Given the description of an element on the screen output the (x, y) to click on. 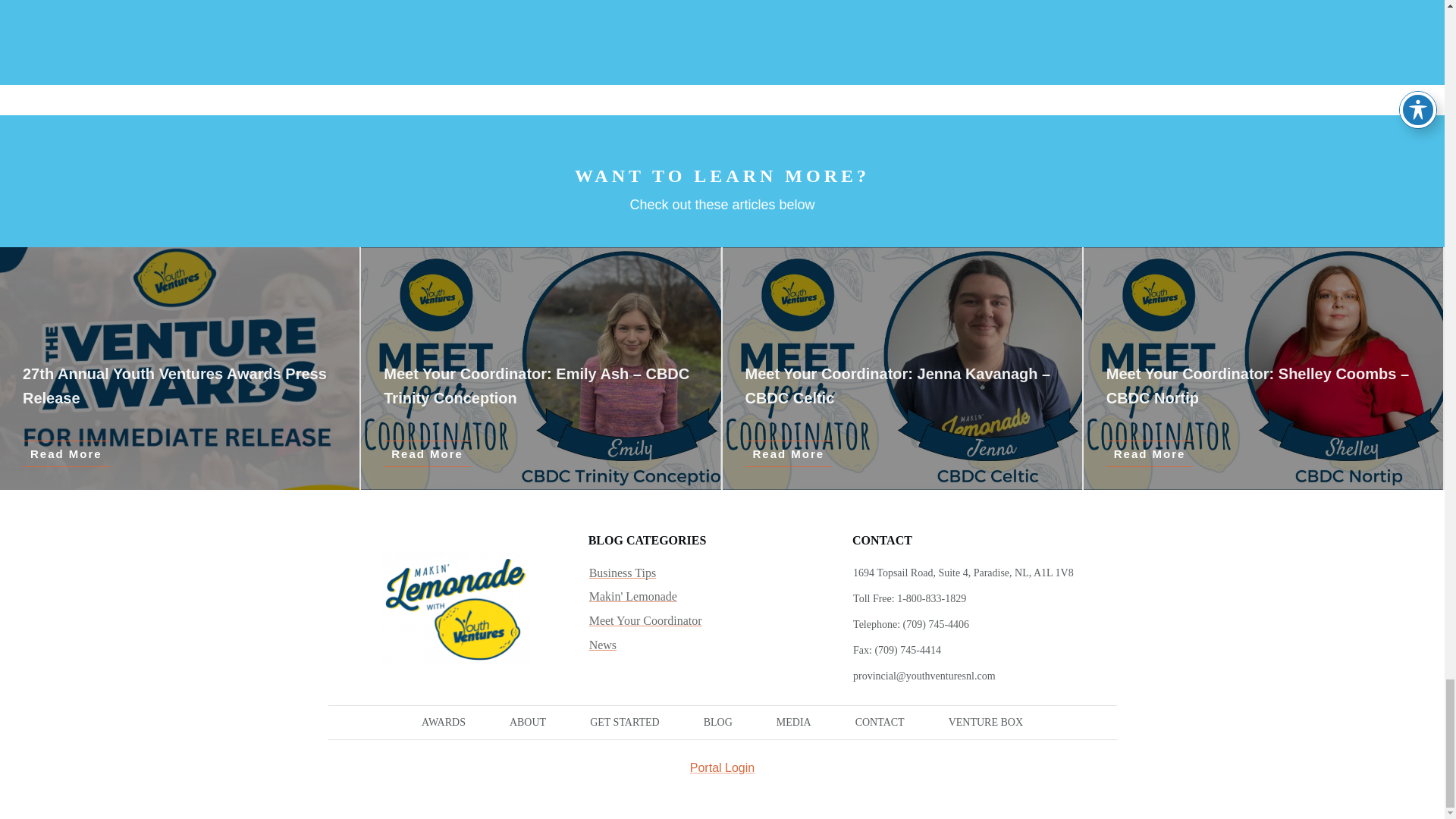
27th Annual Youth Ventures Awards Press Release (174, 385)
Meet Your Coordinator (645, 620)
Business Tips (622, 573)
Read More (66, 453)
News (602, 645)
Read More (427, 453)
Read More (1149, 453)
Makin' Lemonade (633, 596)
Read More (787, 453)
AWARDS (443, 722)
